Given the description of an element on the screen output the (x, y) to click on. 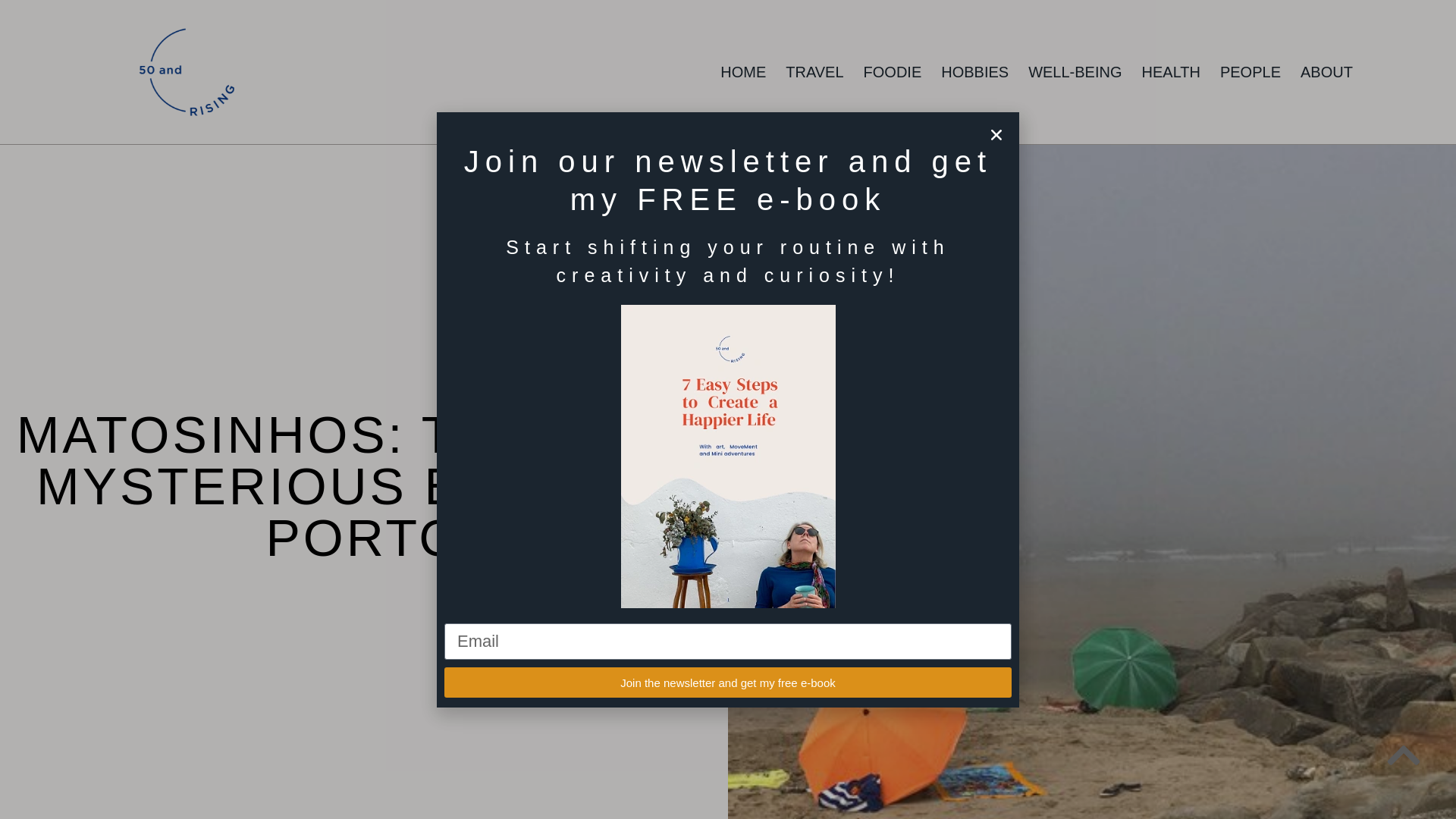
HOME (742, 71)
HEALTH (1170, 71)
PEOPLE (1250, 71)
ABOUT (1326, 71)
WELL-BEING (1075, 71)
FOODIE (892, 71)
HOBBIES (974, 71)
TRAVEL (813, 71)
